Given the description of an element on the screen output the (x, y) to click on. 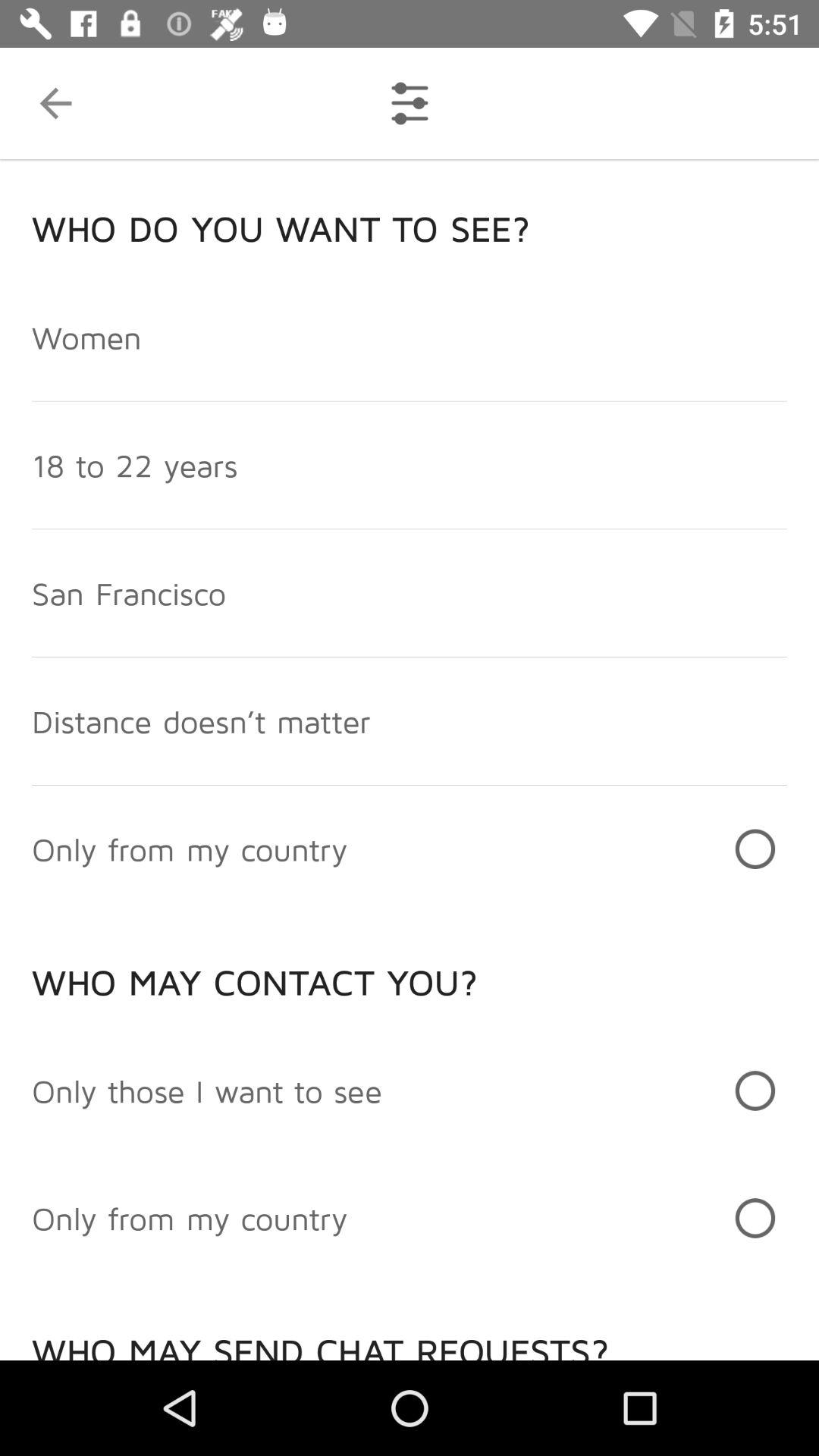
jump to the distance doesn t icon (200, 720)
